Given the description of an element on the screen output the (x, y) to click on. 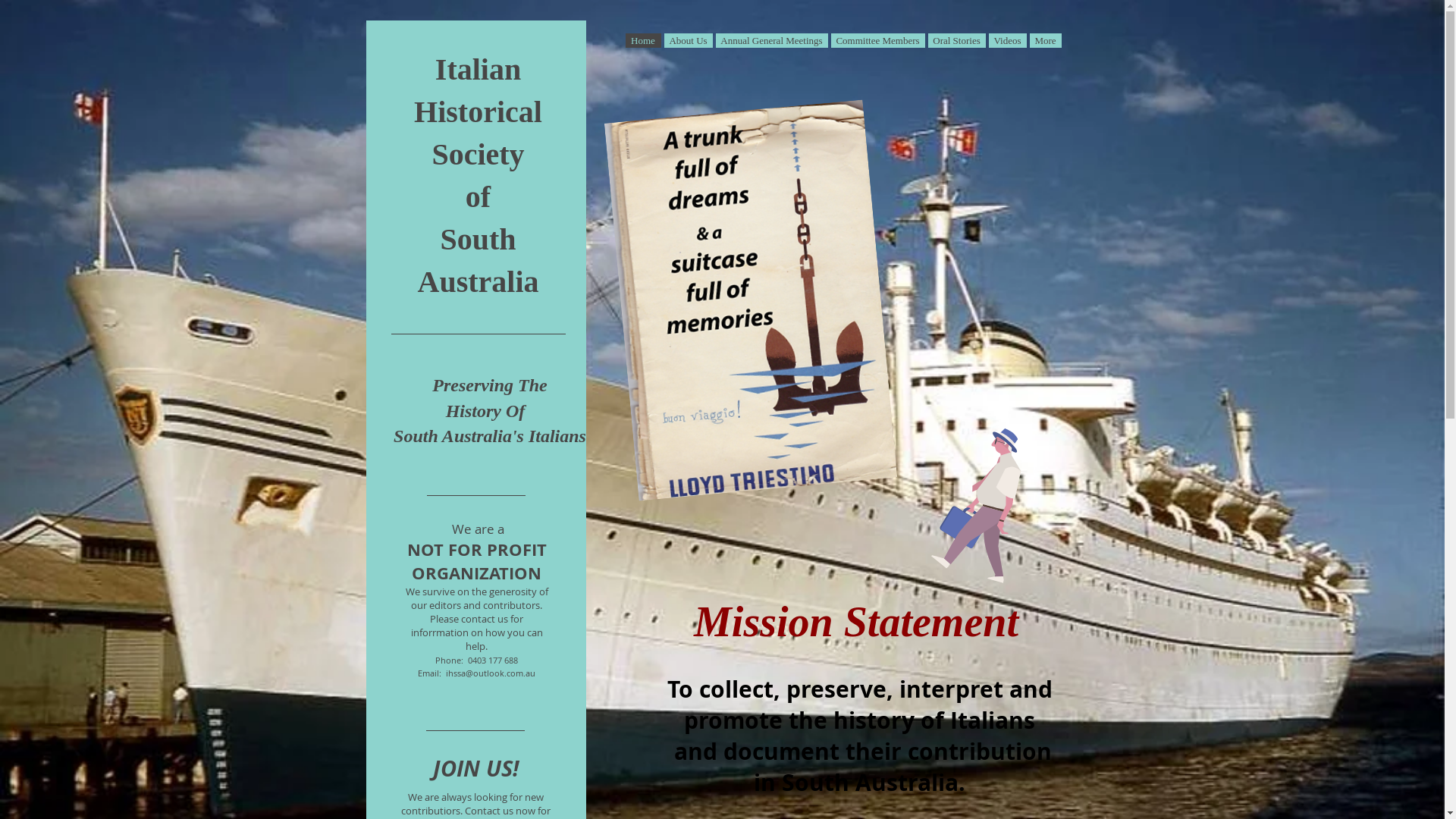
Home Element type: text (642, 40)
Committee Members Element type: text (878, 40)
About Us Element type: text (688, 40)
Oral Stories Element type: text (956, 40)
Videos Element type: text (1007, 40)
Annual General Meetings Element type: text (771, 40)
ihssa@outlook.com.au Element type: text (490, 672)
